Given the description of an element on the screen output the (x, y) to click on. 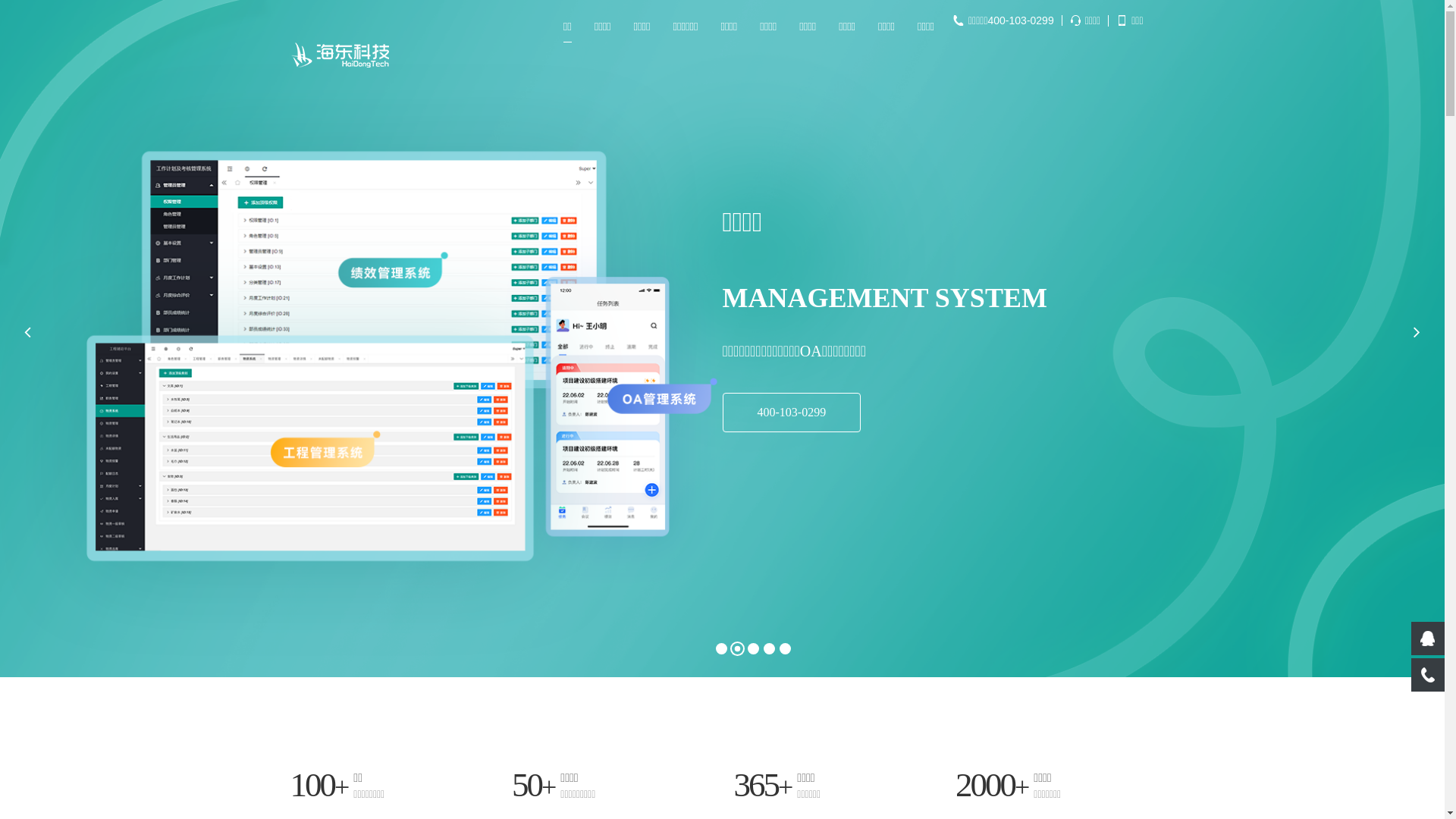
400-103-0299 Element type: text (790, 412)
Previous Element type: text (27, 331)
Next Element type: text (1416, 331)
